Given the description of an element on the screen output the (x, y) to click on. 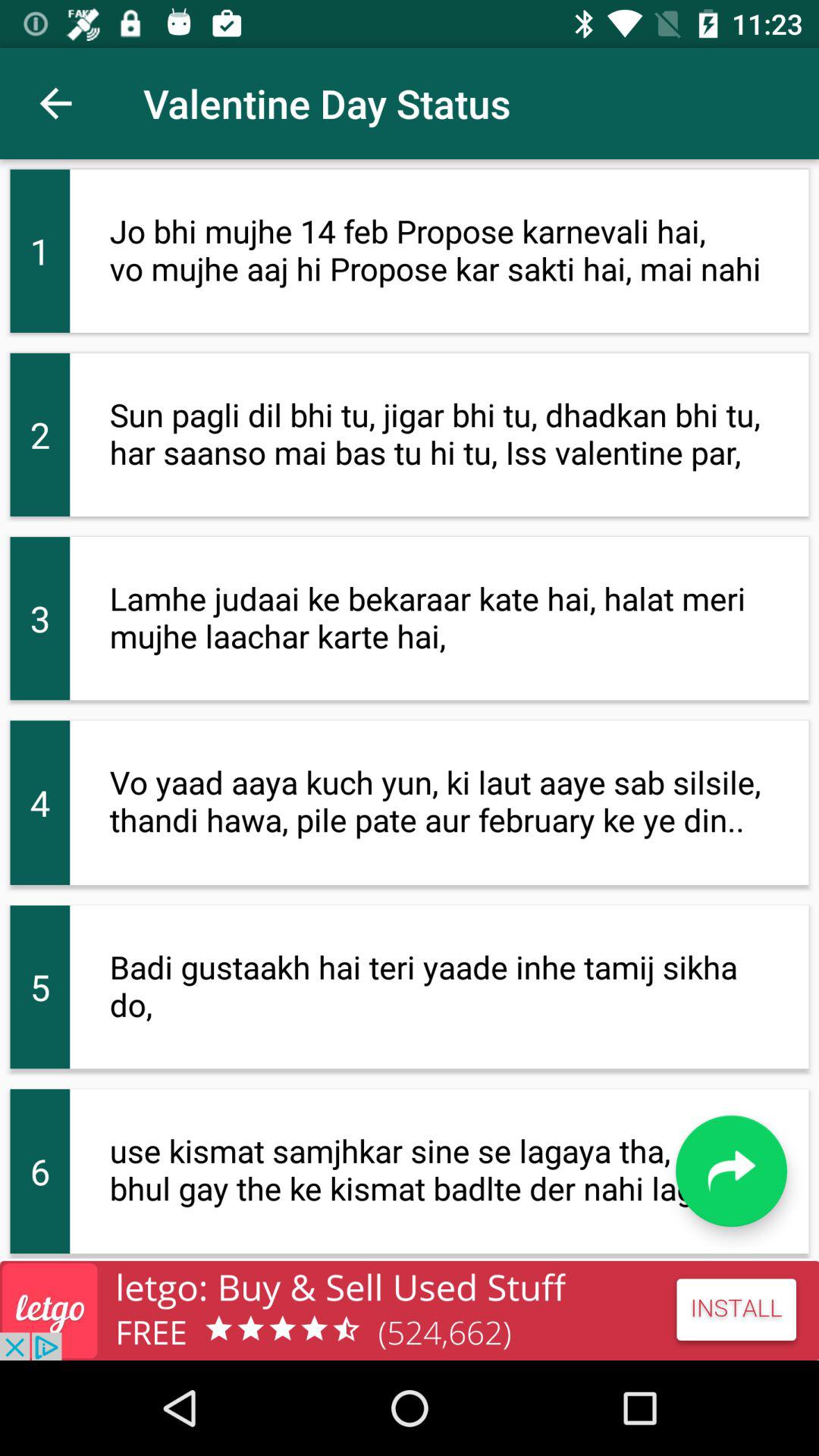
open advertisements (409, 1310)
